Given the description of an element on the screen output the (x, y) to click on. 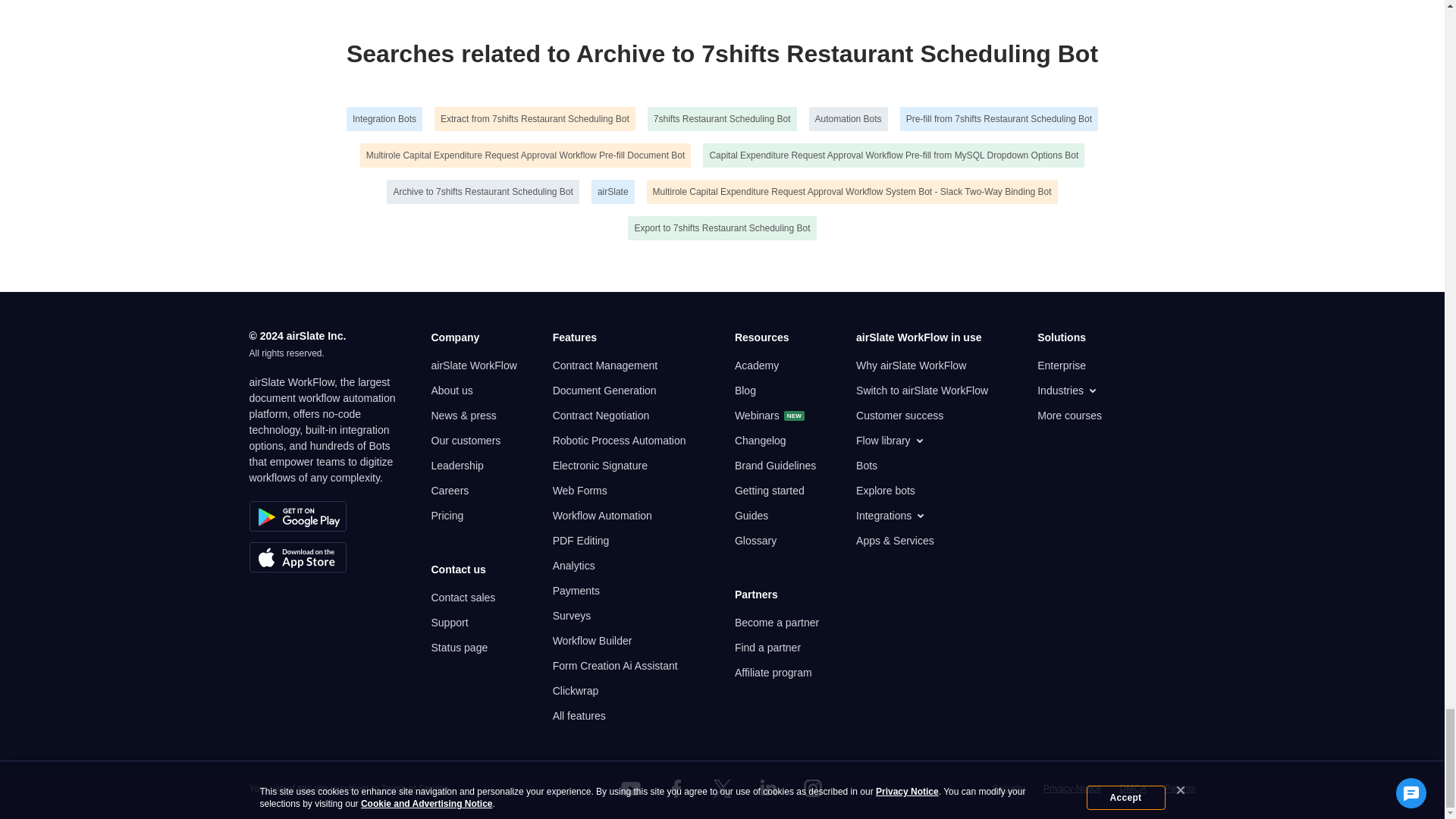
Instagram (812, 788)
Twitter (721, 788)
Facebook (676, 788)
LinkedIn (767, 788)
YouTube (630, 788)
